Given the description of an element on the screen output the (x, y) to click on. 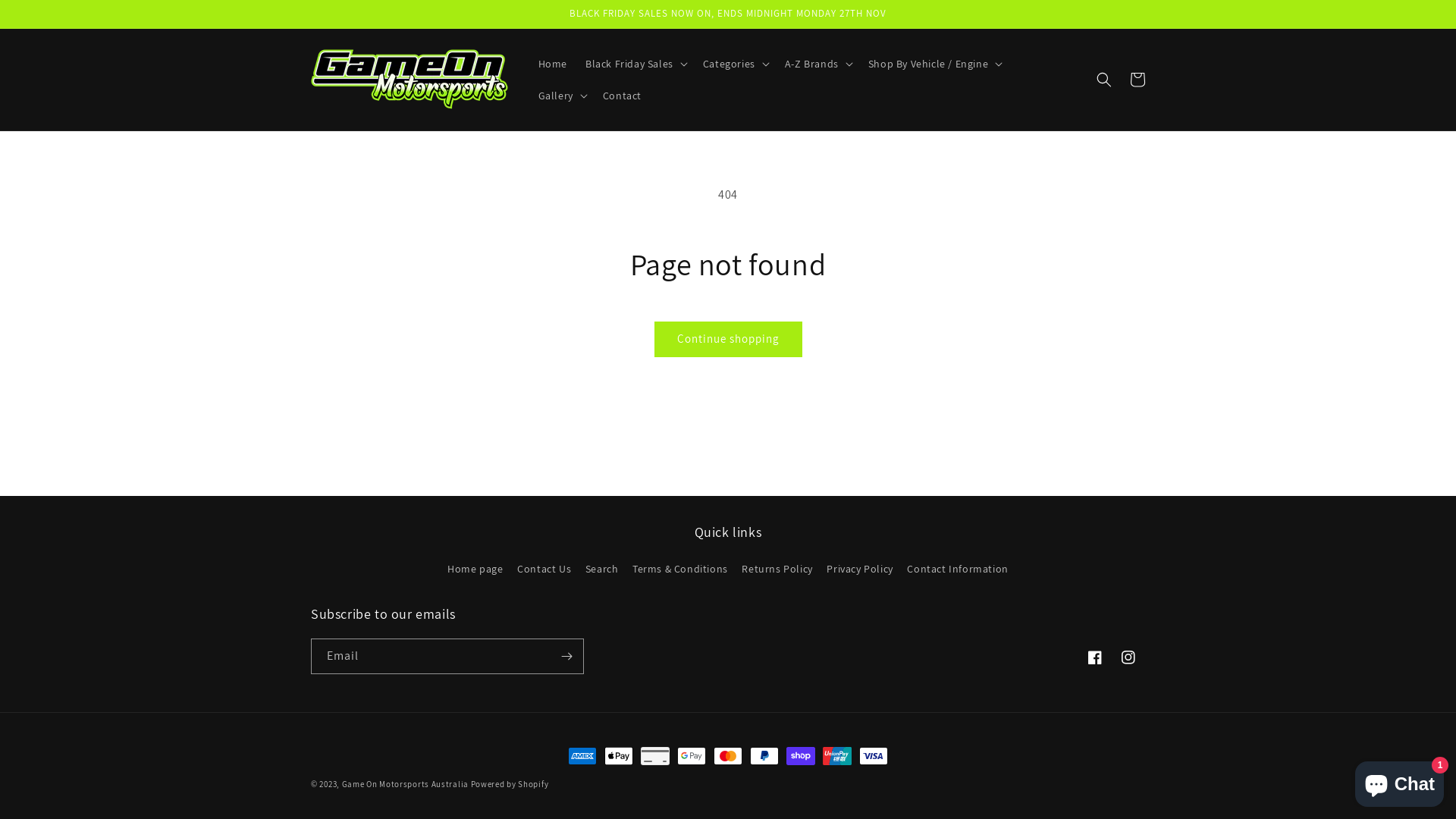
Cart Element type: text (1137, 79)
Home page Element type: text (474, 570)
Powered by Shopify Element type: text (509, 783)
Facebook Element type: text (1094, 657)
Instagram Element type: text (1128, 657)
Game On Motorsports Australia Element type: text (405, 783)
Contact Us Element type: text (544, 568)
Privacy Policy Element type: text (859, 568)
Shopify online store chat Element type: hover (1399, 780)
Contact Information Element type: text (956, 568)
Continue shopping Element type: text (727, 339)
Returns Policy Element type: text (776, 568)
Home Element type: text (552, 63)
Terms & Conditions Element type: text (680, 568)
Search Element type: text (601, 568)
Contact Element type: text (621, 95)
